Given the description of an element on the screen output the (x, y) to click on. 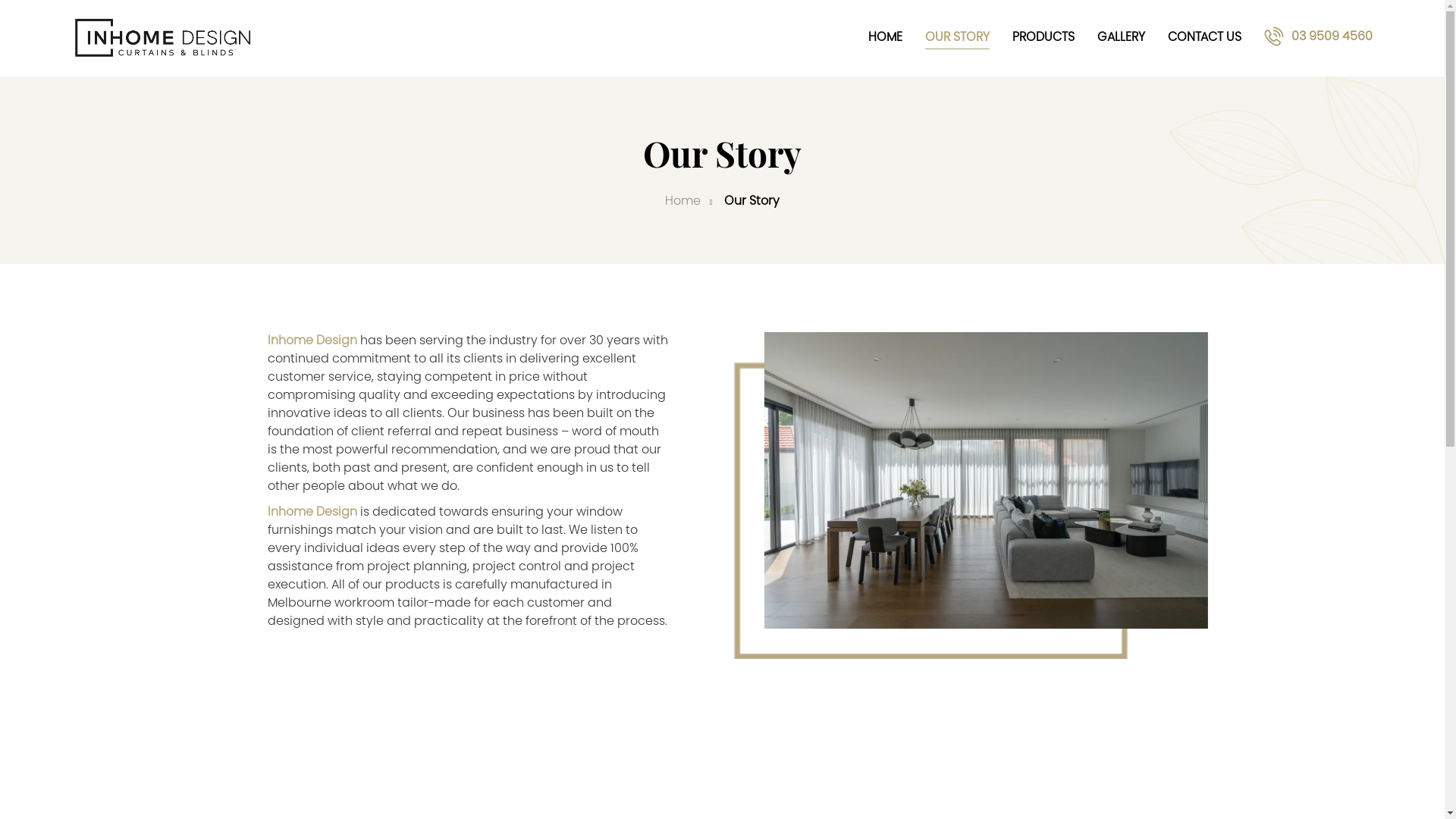
CONTACT US Element type: text (1204, 37)
HOME Element type: text (885, 37)
PRODUCTS Element type: text (1043, 37)
03 9509 4560 Element type: text (1318, 34)
GALLERY Element type: text (1121, 37)
Inhome Design Element type: text (311, 340)
OUR STORY Element type: text (957, 37)
Inhome Design Element type: text (311, 511)
Home Element type: text (682, 200)
